Given the description of an element on the screen output the (x, y) to click on. 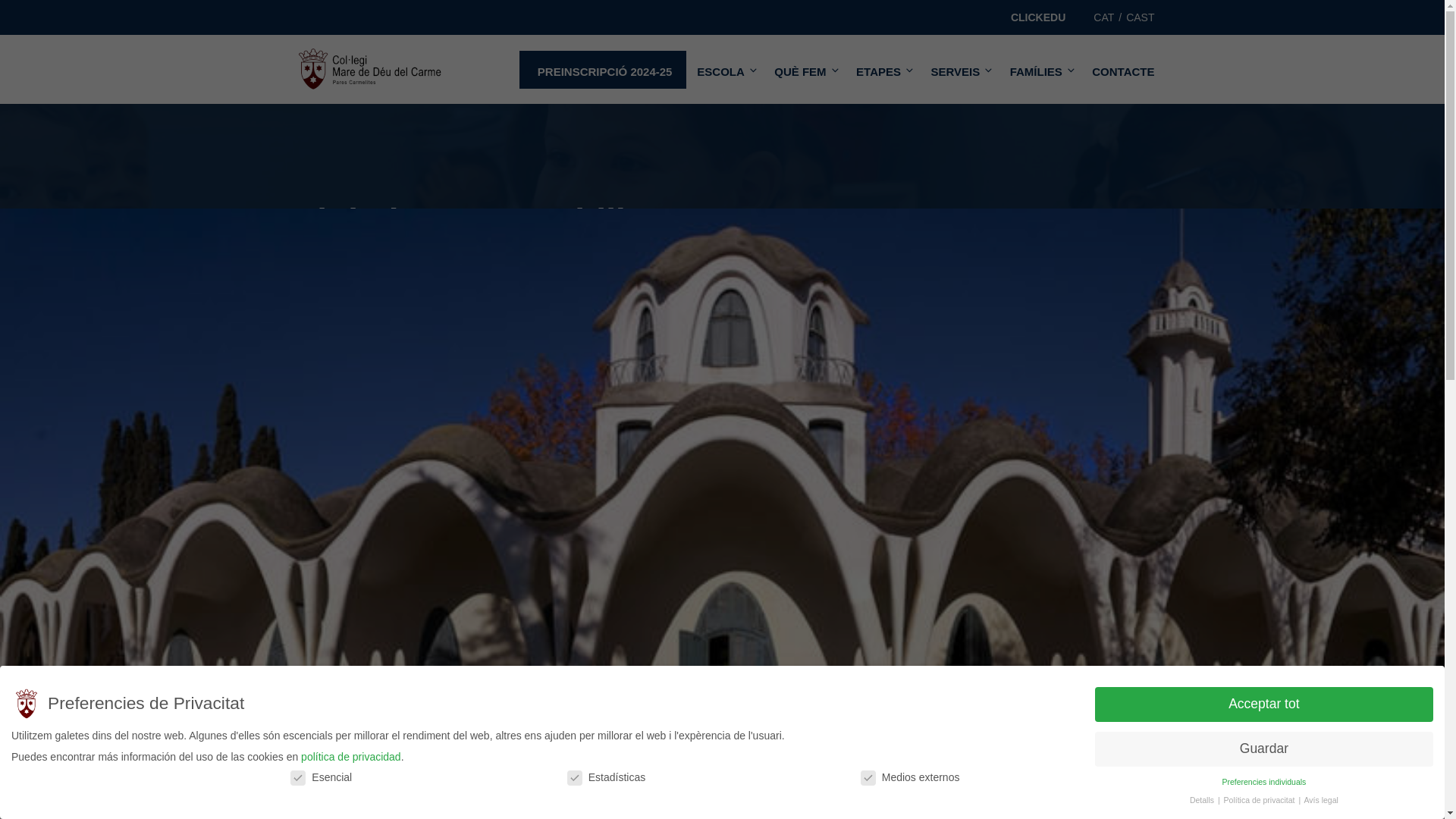
CLICKEDU (1037, 17)
CAST (1139, 17)
CAT (1103, 17)
